Given the description of an element on the screen output the (x, y) to click on. 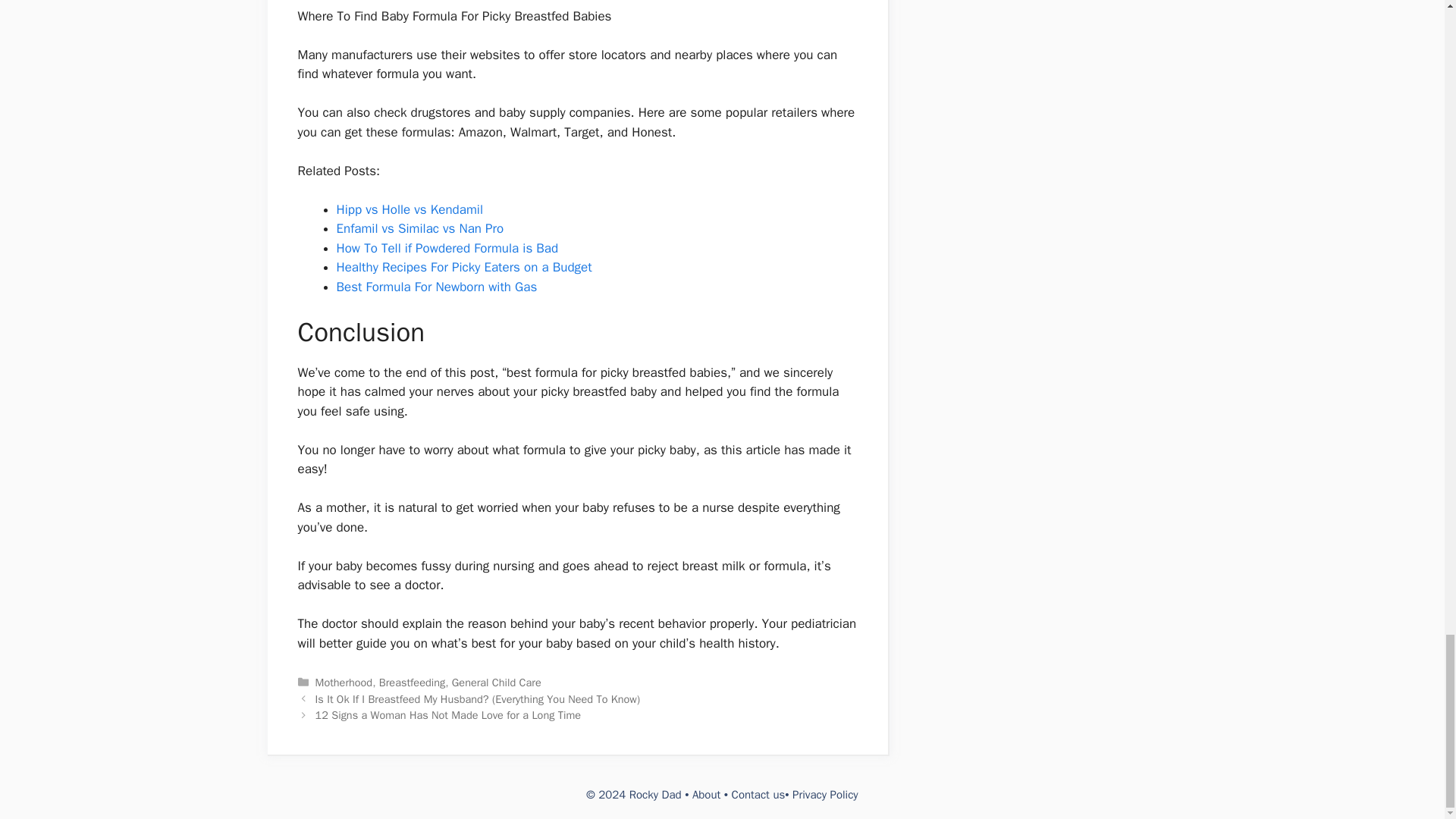
General Child Care (496, 682)
Breastfeeding (411, 682)
Best Formula For Newborn with Gas (436, 286)
Enfamil vs Similac vs Nan Pro (419, 228)
How To Tell if Powdered Formula is Bad (447, 248)
Healthy Recipes For Picky Eaters on a Budget (464, 267)
Hipp vs Holle vs Kendamil (409, 209)
Motherhood (343, 682)
